Given the description of an element on the screen output the (x, y) to click on. 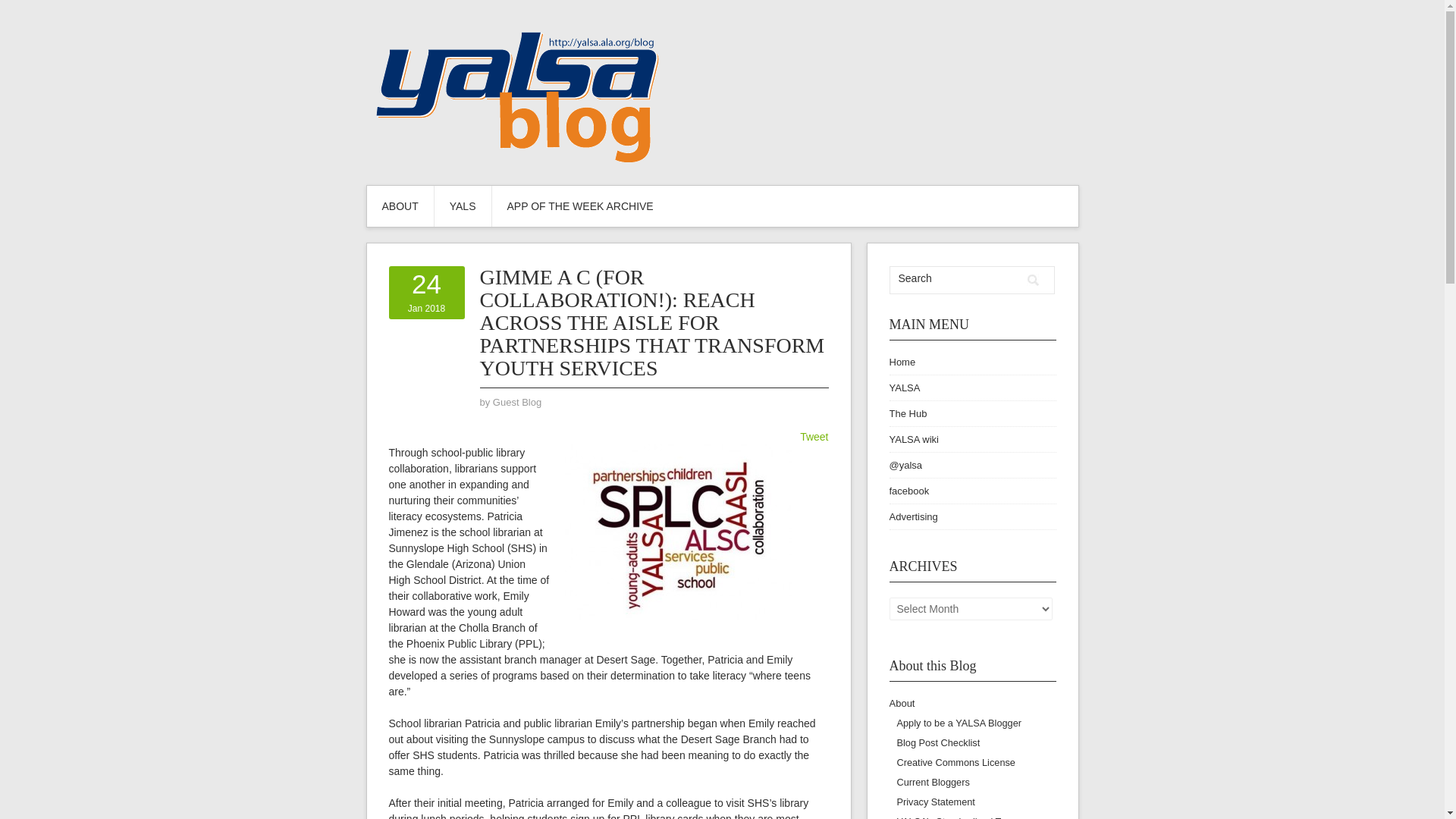
Search (954, 278)
The Hub (907, 413)
Tweet (813, 436)
APP OF THE WEEK ARCHIVE (580, 205)
YALSA (904, 387)
Home (901, 361)
YALS (462, 205)
Search (1032, 279)
ABOUT (426, 291)
